Given the description of an element on the screen output the (x, y) to click on. 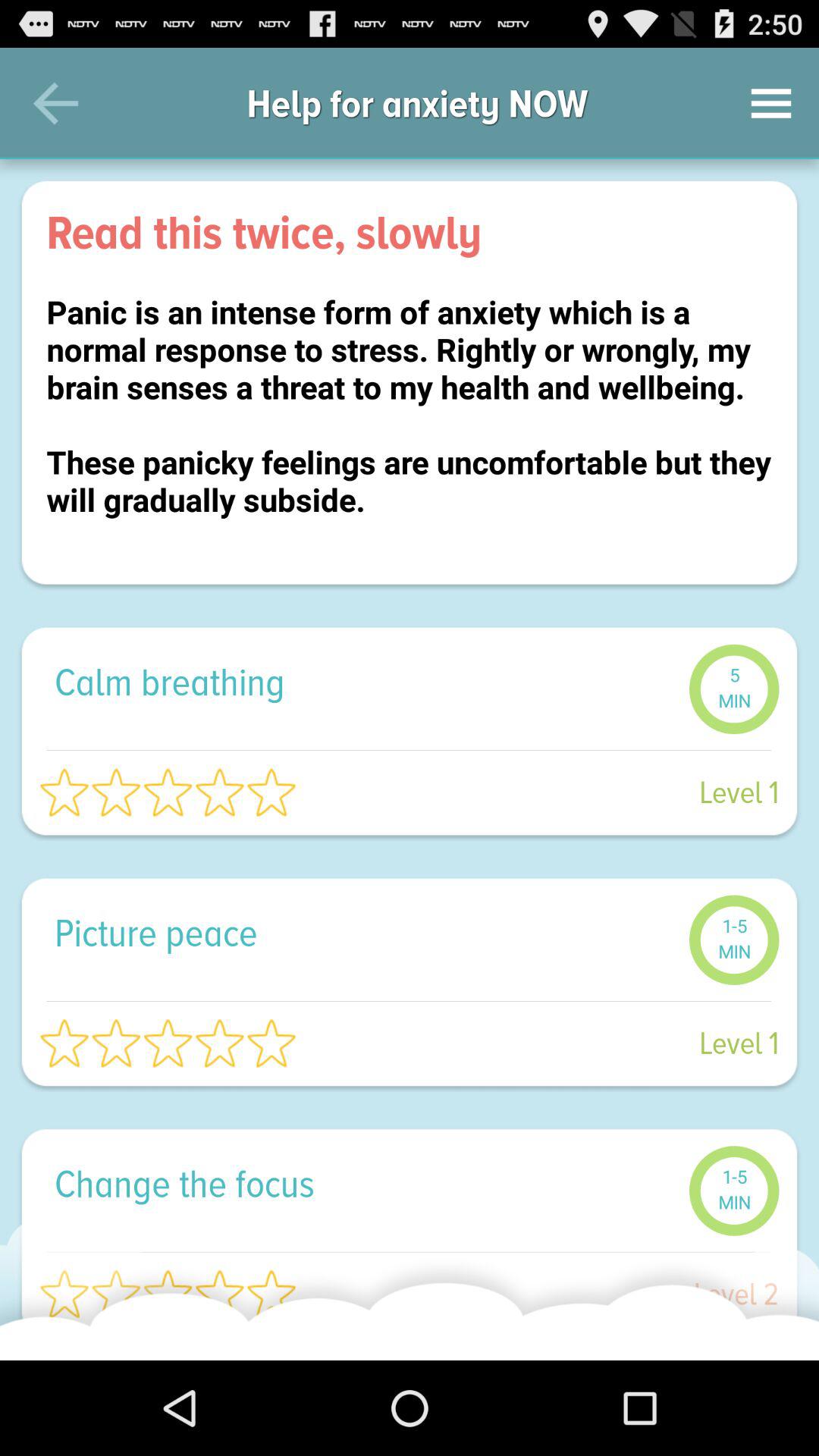
choose item above read this twice (771, 103)
